Given the description of an element on the screen output the (x, y) to click on. 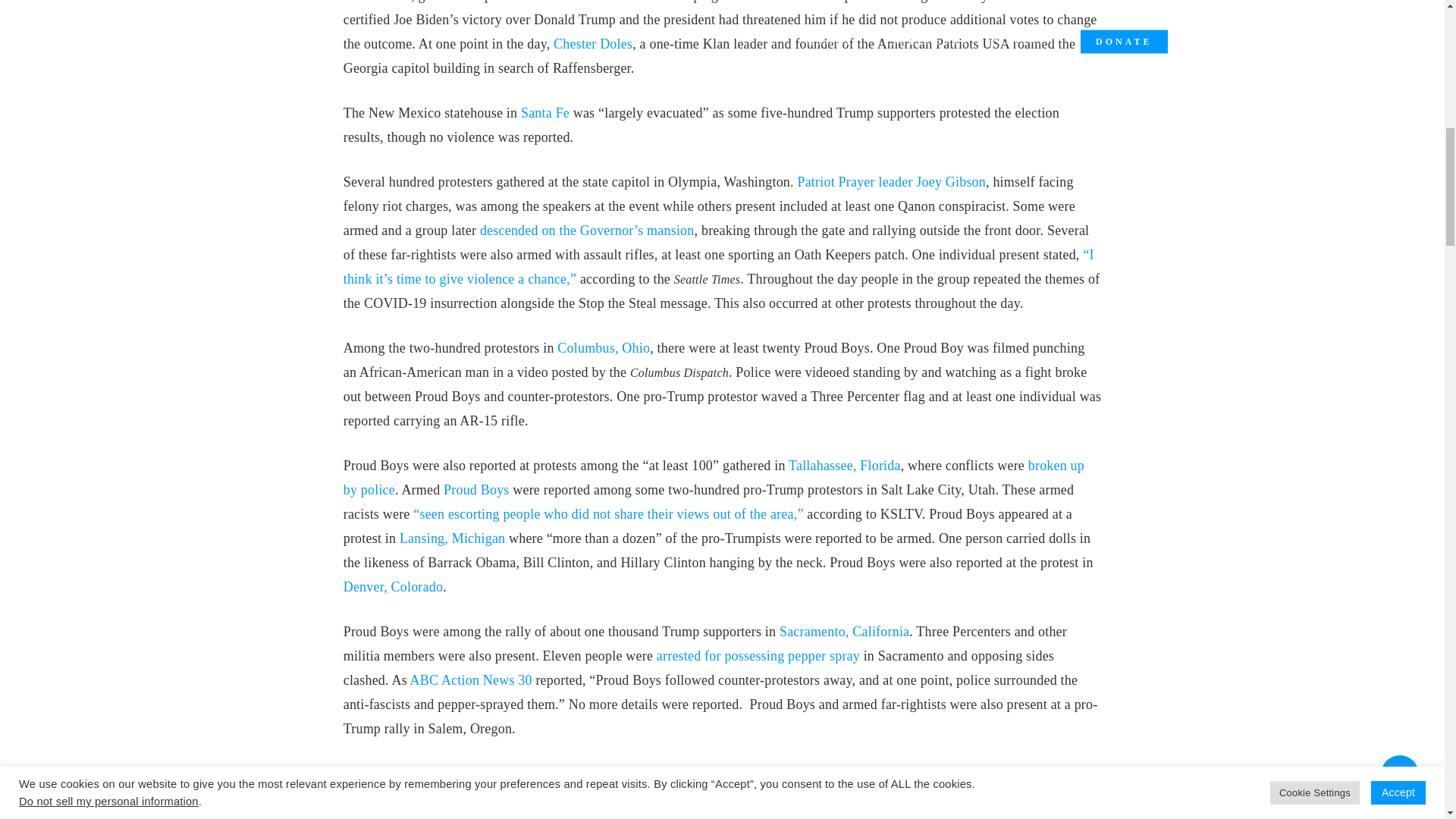
Santa Fe (545, 112)
broken up by police (713, 477)
Denver, Colorado (392, 586)
Columbus, Ohio (603, 347)
Proud Boys (476, 489)
ABC Action News 30 (471, 679)
Lansing, Michigan (451, 538)
Chester Doles (592, 43)
Sacramento, California (843, 631)
Patriot Prayer leader Joey Gibson (890, 181)
arrested for possessing pepper spray (758, 655)
Tallahassee, Florida (845, 465)
